Given the description of an element on the screen output the (x, y) to click on. 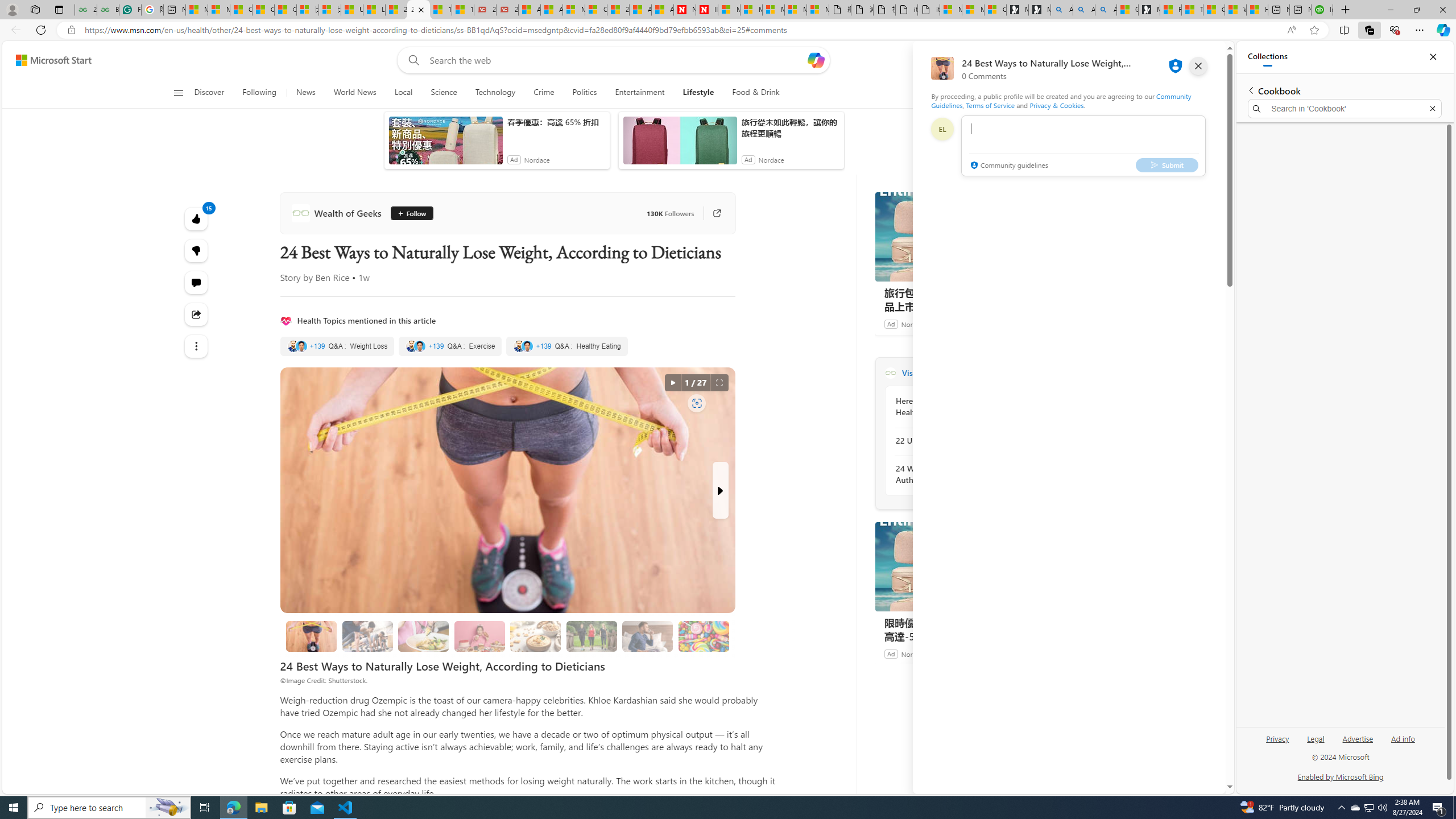
21 Movies That Outdid the Books They Were Based On (507, 9)
